Given the description of an element on the screen output the (x, y) to click on. 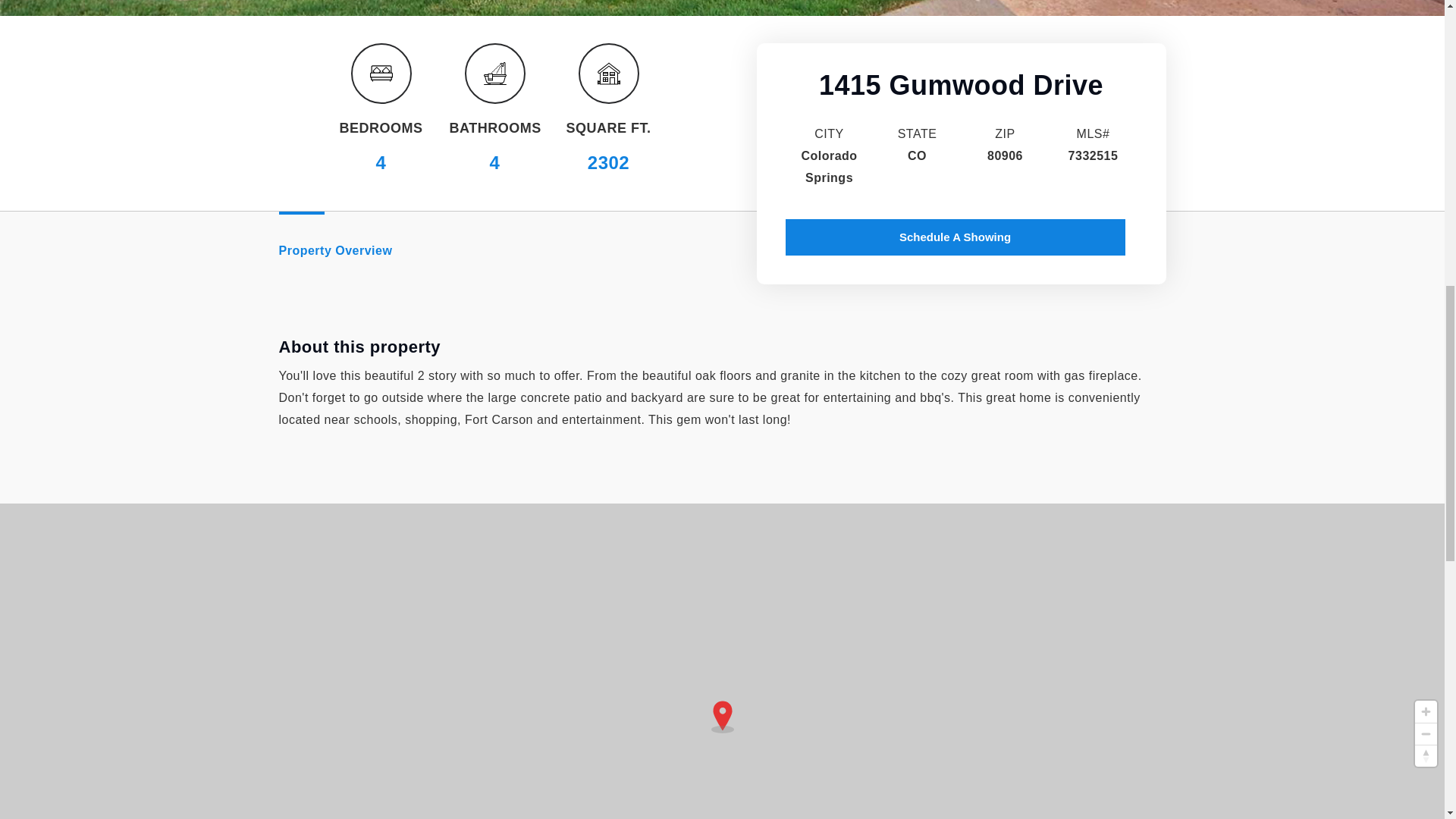
Zoom out (1426, 733)
Reset bearing to north (1426, 755)
Zoom in (1426, 711)
